Given the description of an element on the screen output the (x, y) to click on. 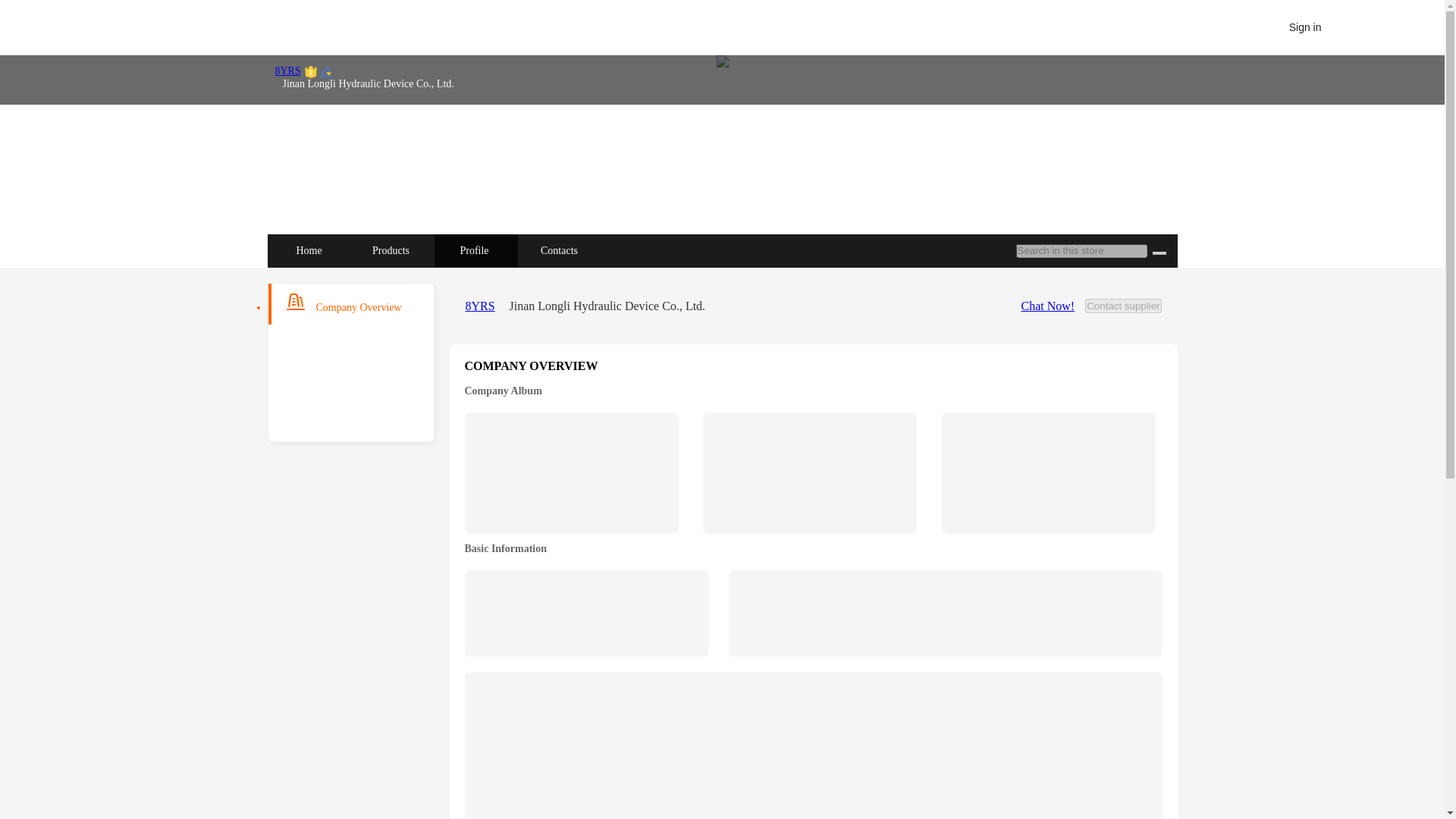
Profile (474, 250)
What is Gold Supplier? (484, 305)
Contact supplier (1122, 305)
Products (391, 250)
8YRS (484, 305)
Profile (474, 250)
Contacts (559, 250)
Contact supplier (1122, 305)
Products (391, 250)
Jinan Longli Hydraulic Device Co., Ltd. (607, 305)
Home (308, 250)
Contact supplier (1122, 305)
Chat Now! (1048, 305)
What is Gold Supplier? (287, 70)
8YRS (287, 70)
